Given the description of an element on the screen output the (x, y) to click on. 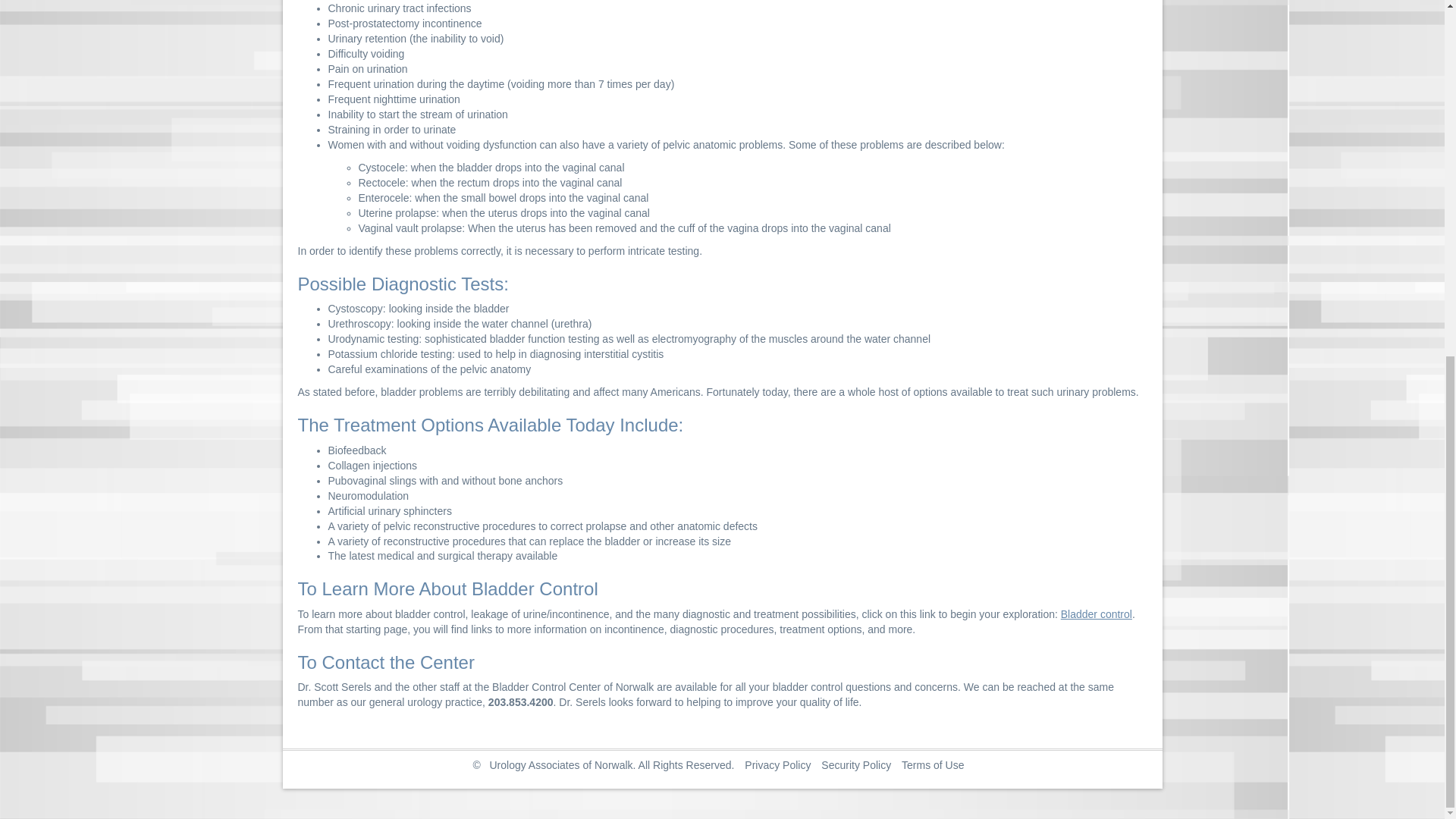
Bladder control (1096, 613)
Privacy Policy (777, 765)
Terms of Use (932, 765)
Security Policy (856, 765)
